Given the description of an element on the screen output the (x, y) to click on. 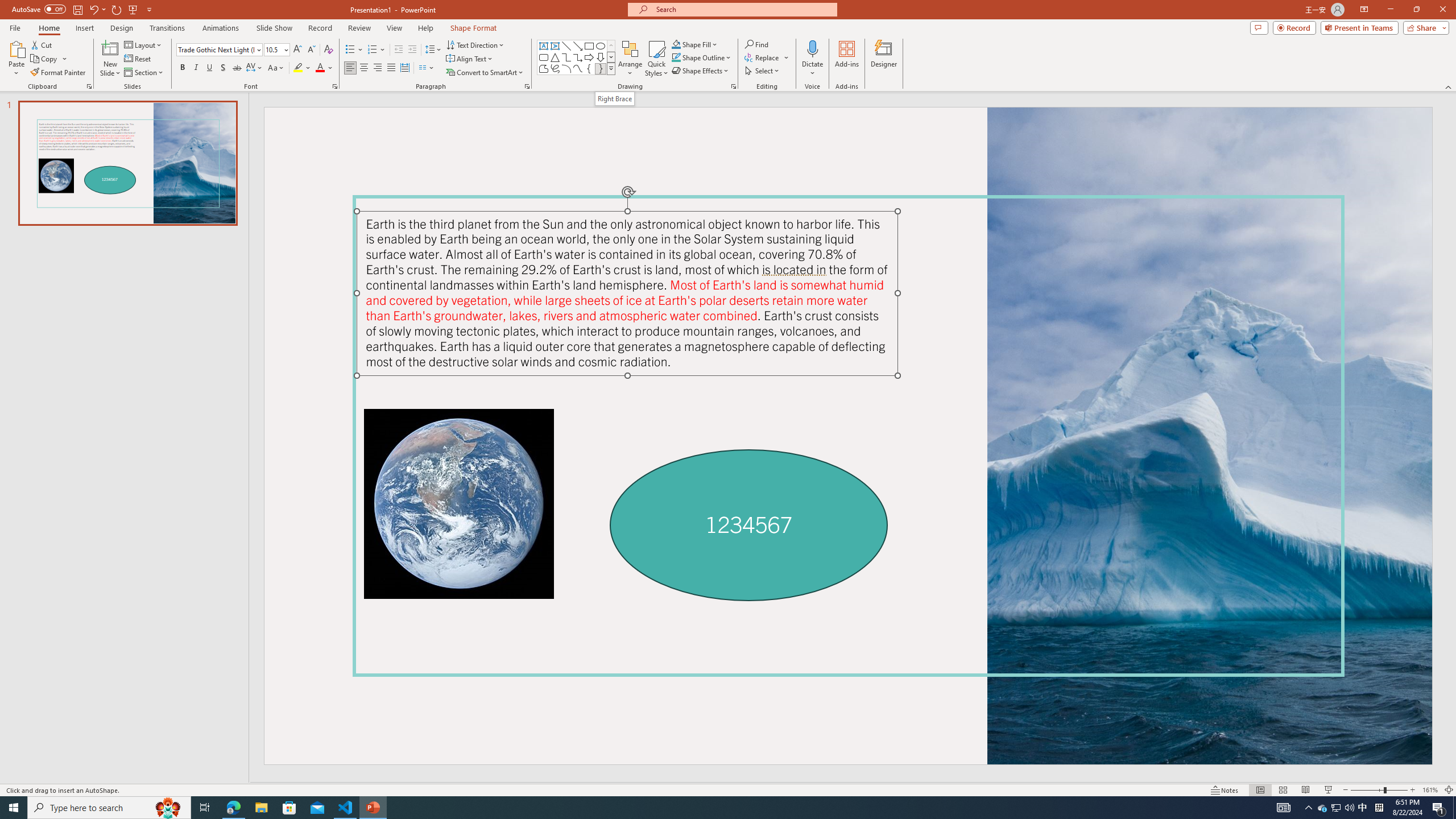
Shape Fill Aqua, Accent 2 (675, 44)
